Given the description of an element on the screen output the (x, y) to click on. 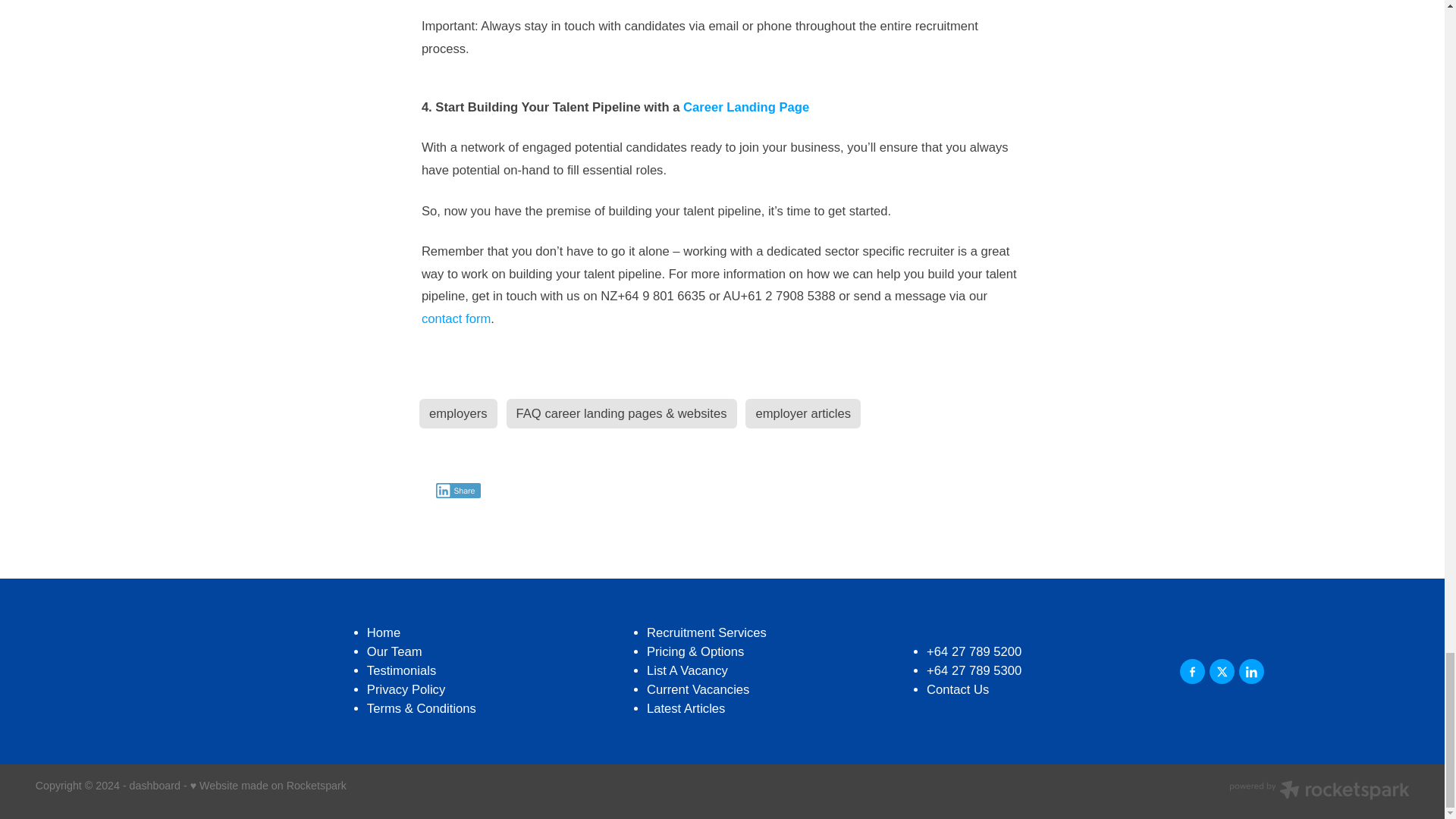
Our Team (394, 651)
A link to this website's Facebook. (1192, 671)
Rocketspark website builder (1318, 791)
Testimonials (400, 670)
Career Landing Page (745, 106)
Home (383, 632)
Privacy Policy (405, 689)
A link to this website's LinkedIn. (1251, 671)
A link to this website's X. (1221, 671)
Share (457, 490)
